Given the description of an element on the screen output the (x, y) to click on. 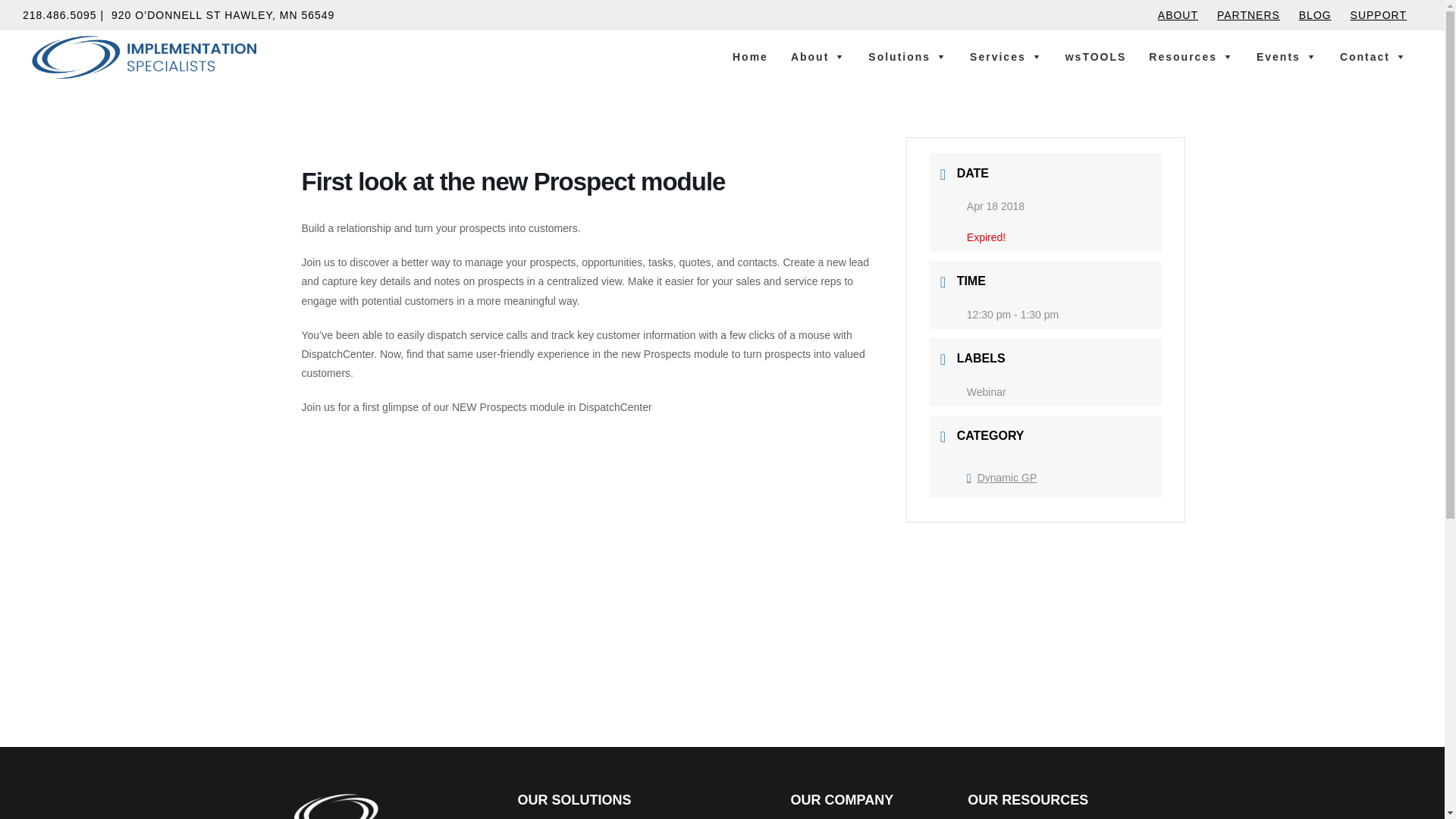
Resources (1191, 56)
About (818, 56)
Solutions (907, 56)
BLOG (1315, 15)
SUPPORT (1378, 15)
First look at the new Prospect Module (491, 538)
Events (1286, 56)
Services (1005, 56)
Contact (1372, 56)
Dynamic GP (1001, 477)
PARTNERS (1248, 19)
ABOUT (1177, 19)
wsTOOLS (1096, 56)
Implementation Specialists (79, 95)
